Given the description of an element on the screen output the (x, y) to click on. 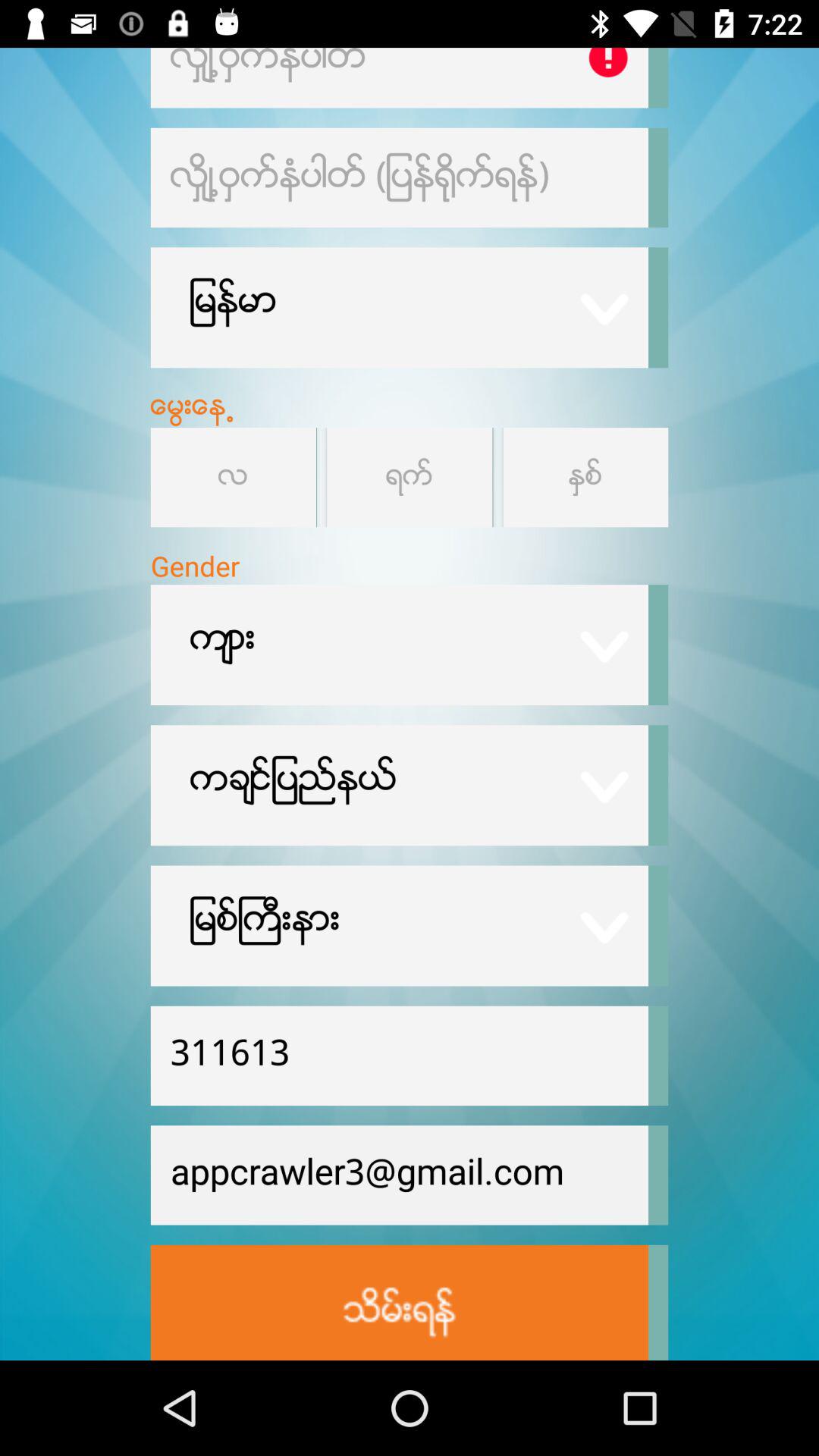
confirm (399, 1302)
